Given the description of an element on the screen output the (x, y) to click on. 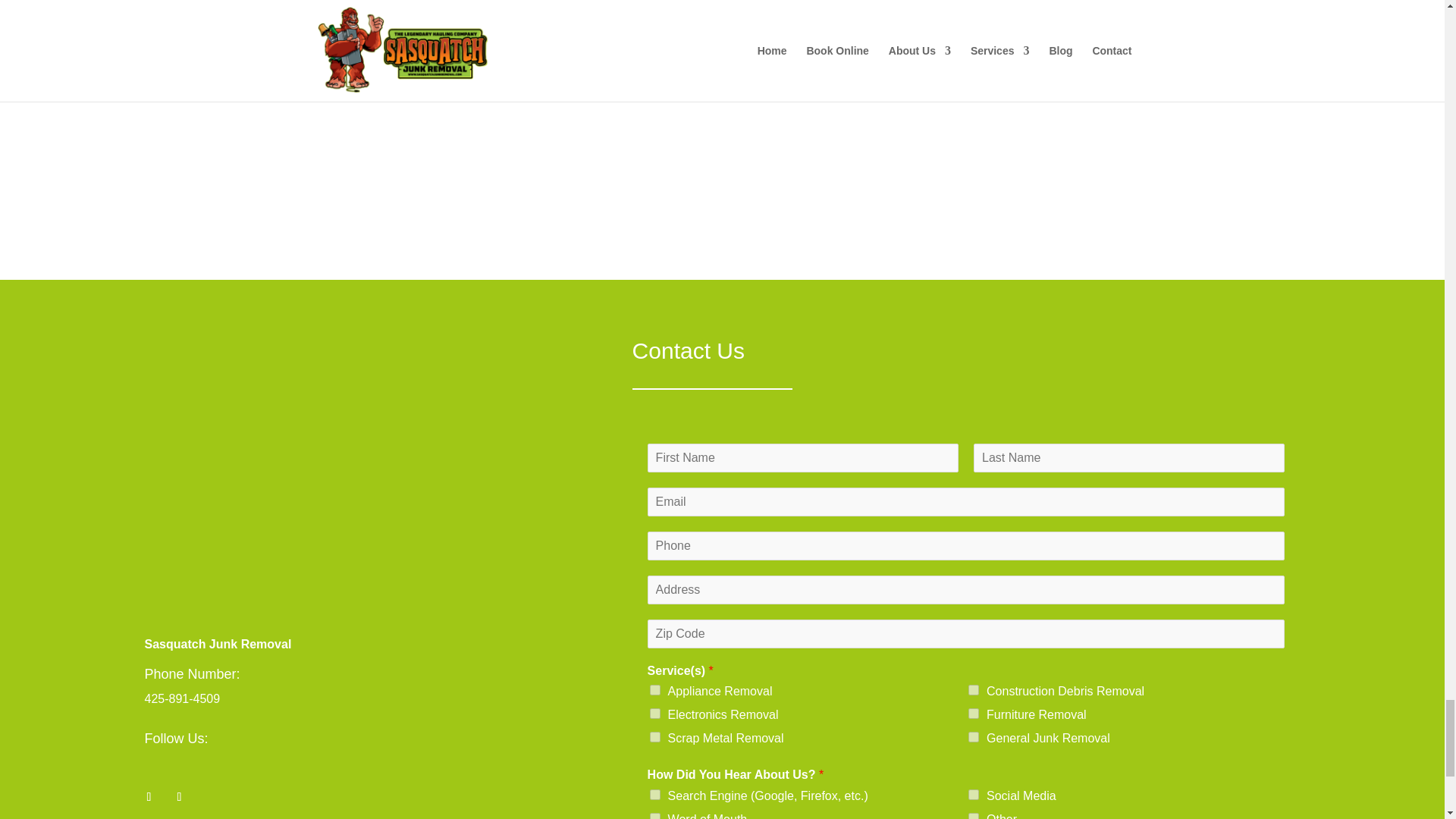
Electronics Removal (655, 713)
Scrap Metal Removal (655, 737)
Furniture Removal (973, 713)
Other (973, 816)
Construction Debris Removal (973, 689)
Word of Mouth (655, 816)
General Junk Removal (973, 737)
Social Media (973, 794)
Appliance Removal (655, 689)
